Given the description of an element on the screen output the (x, y) to click on. 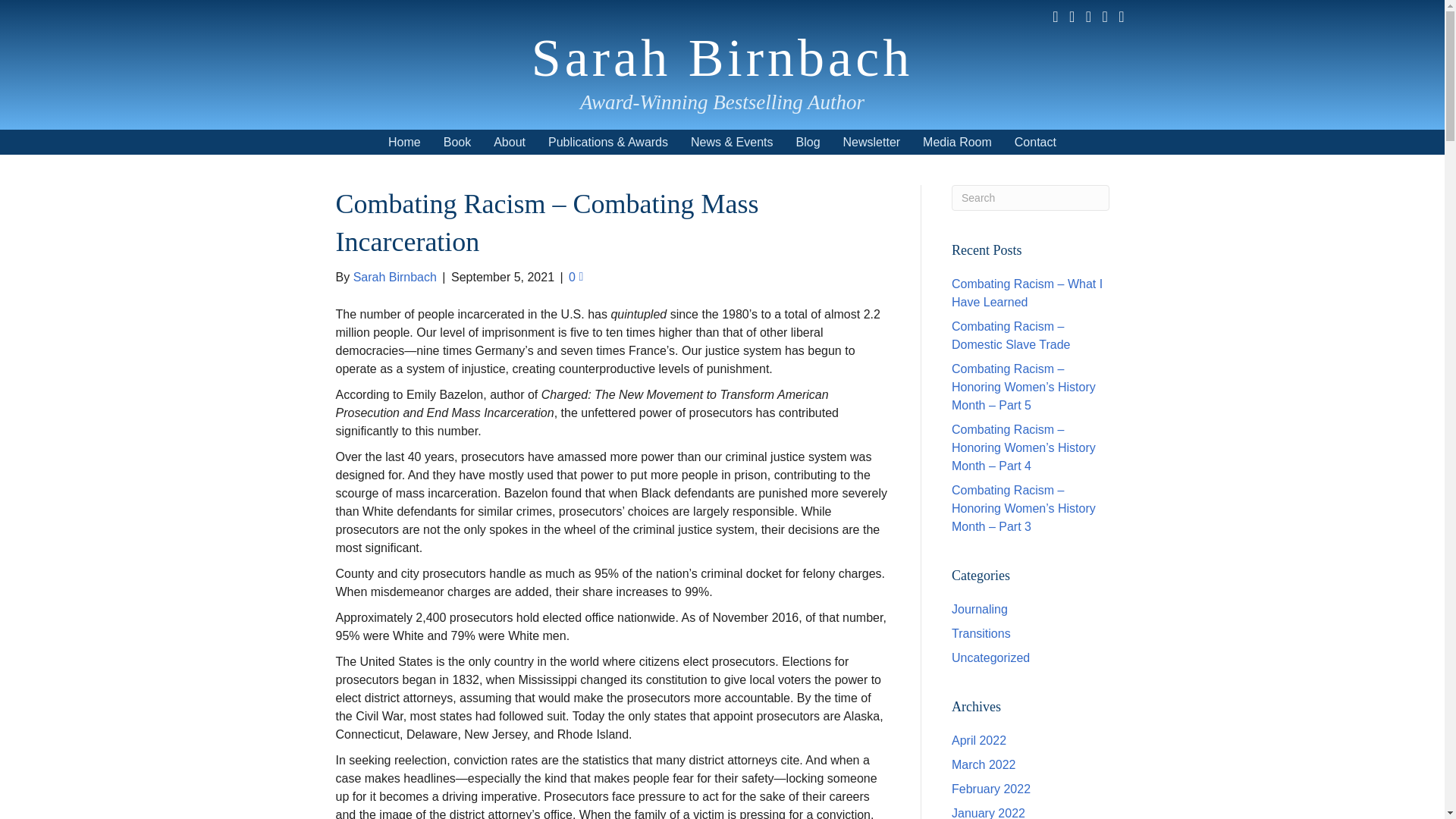
Sarah Birnbach (721, 57)
Journaling (979, 608)
Media Room (957, 141)
About (509, 141)
Contact (1035, 141)
Type and press Enter to search. (1030, 197)
Sarah Birnbach (721, 57)
Home (404, 141)
Blog (807, 141)
Newsletter (871, 141)
